Given the description of an element on the screen output the (x, y) to click on. 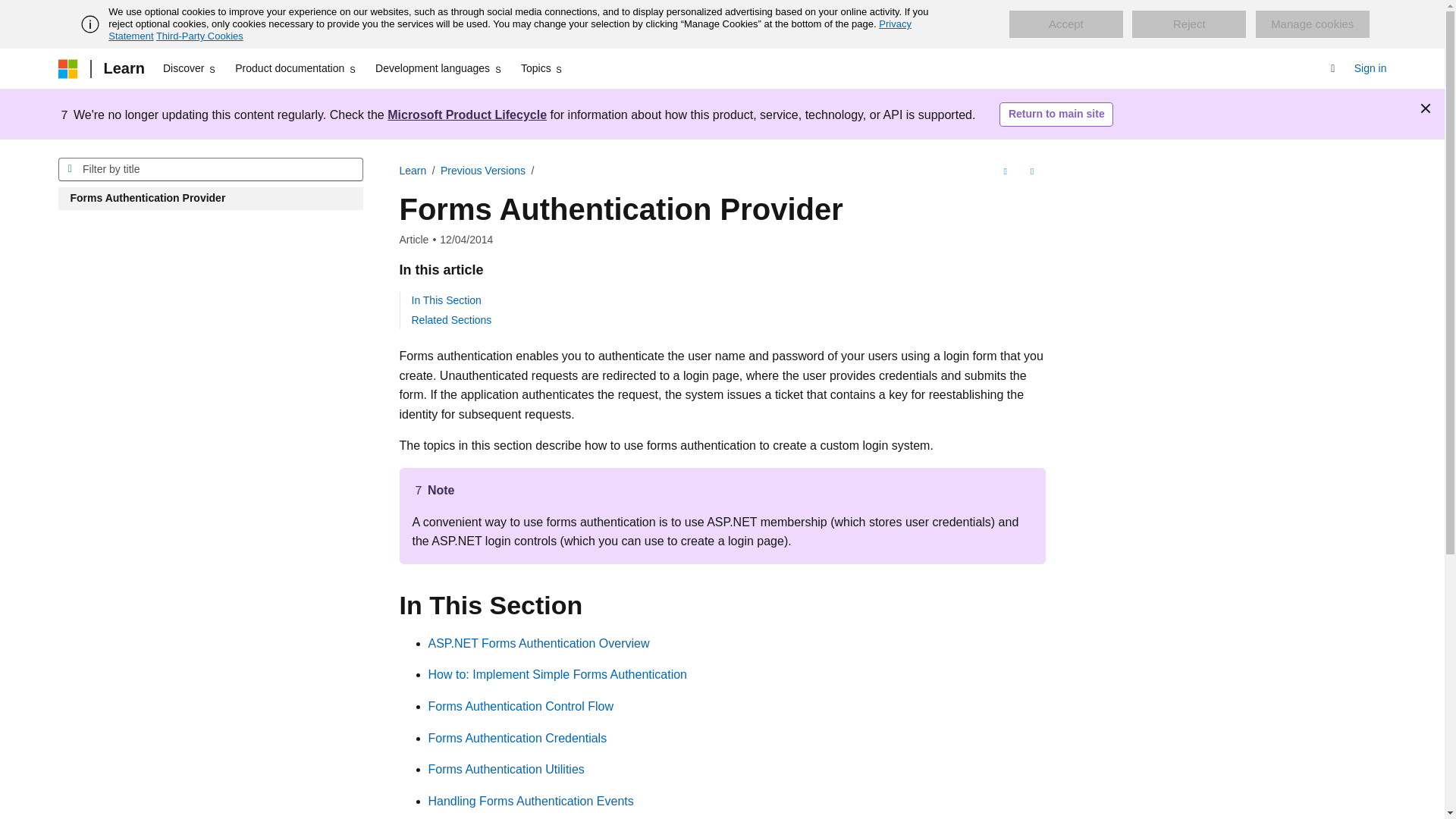
Third-Party Cookies (199, 35)
Development languages (438, 68)
Product documentation (295, 68)
Return to main site (1055, 114)
Previous Versions (483, 170)
Skip to main content (11, 11)
Sign in (1370, 68)
Manage cookies (1312, 23)
Learn (123, 68)
Dismiss alert (1425, 108)
